Given the description of an element on the screen output the (x, y) to click on. 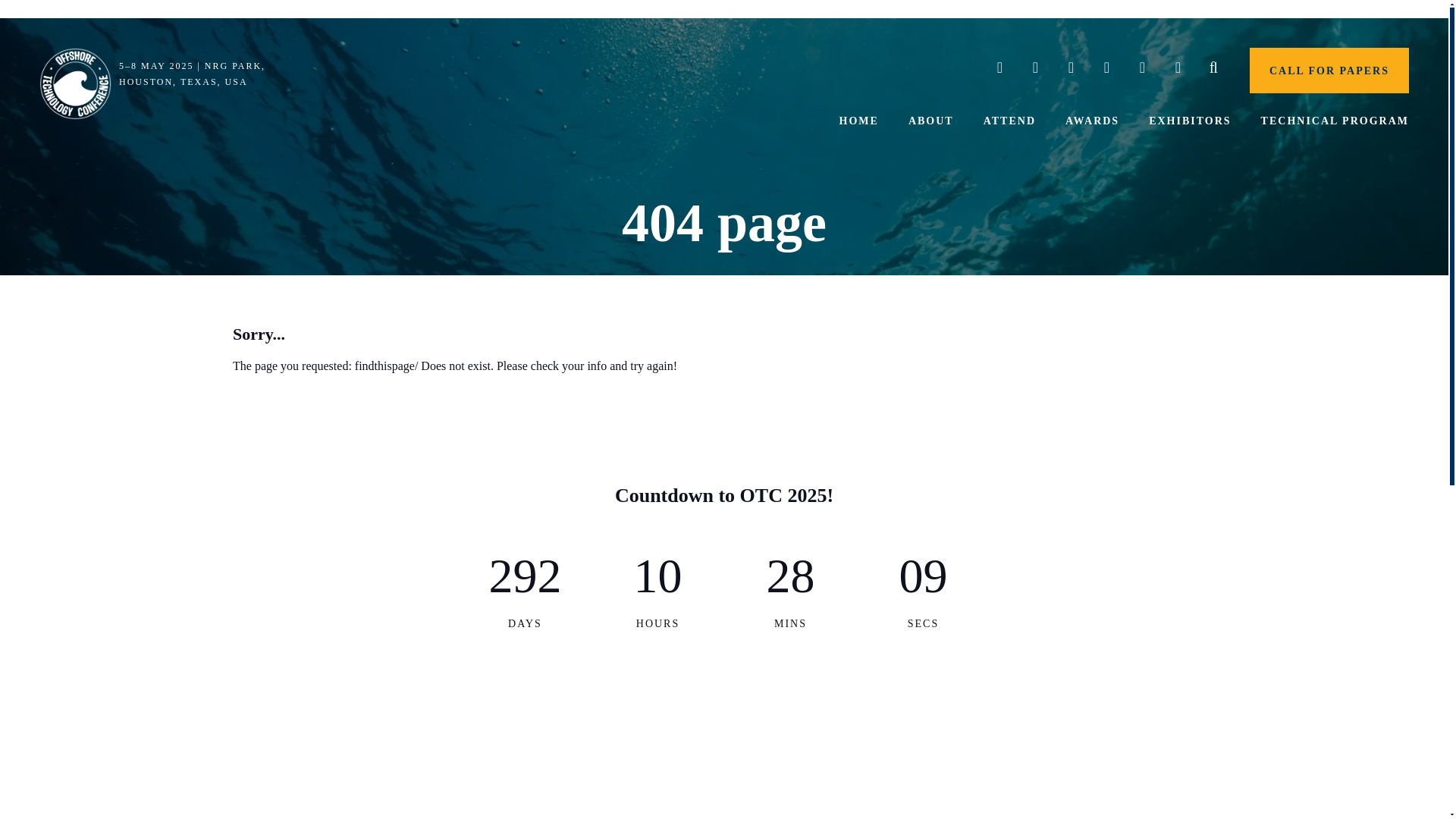
Twitter (1000, 67)
Youtube (1141, 67)
Search (1213, 67)
Facebook (1035, 67)
Instagram (1106, 67)
CALL FOR PAPERS (1329, 70)
Email (1177, 67)
LinkedIn (1070, 67)
